Given the description of an element on the screen output the (x, y) to click on. 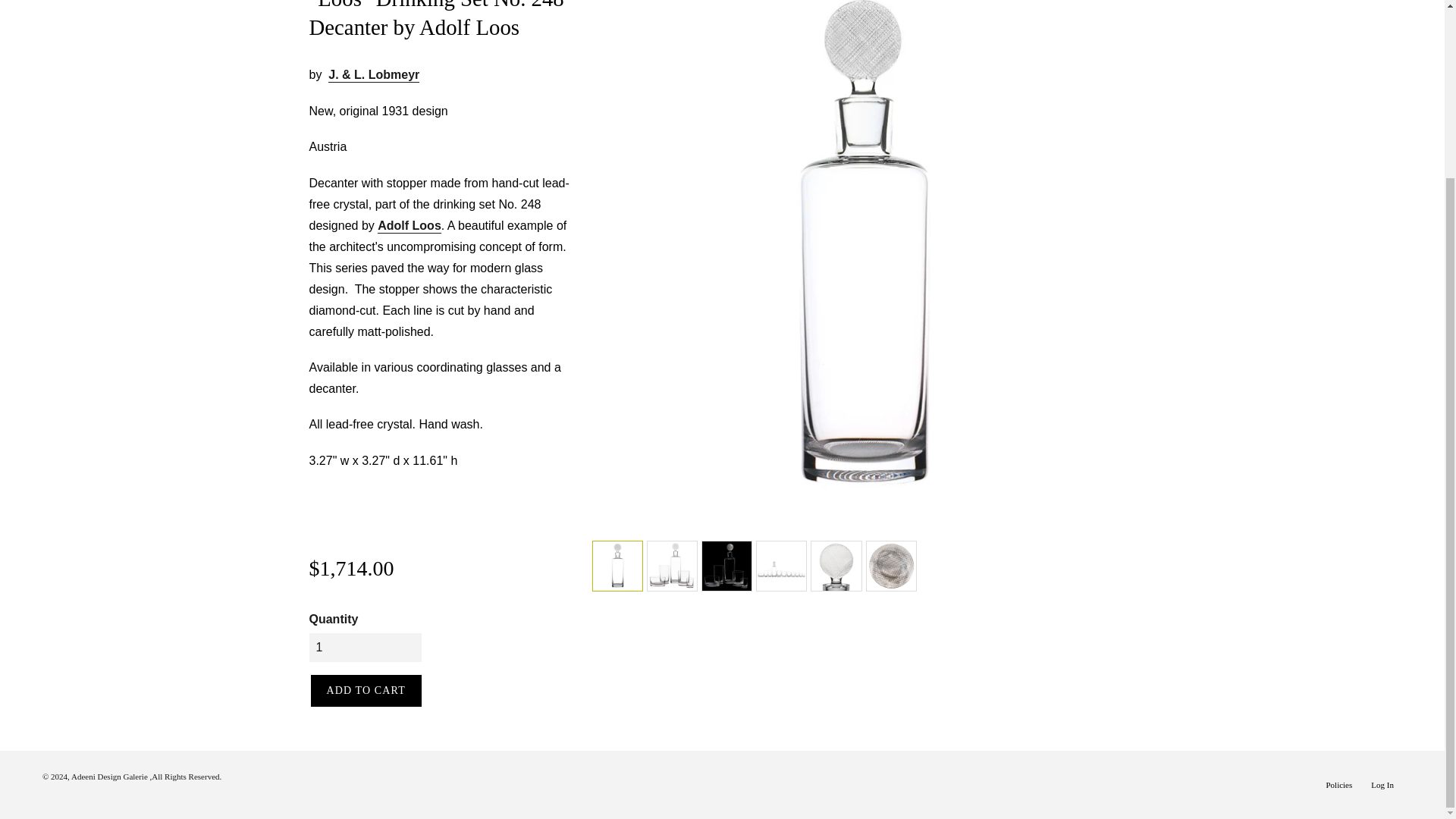
1 (365, 647)
